Given the description of an element on the screen output the (x, y) to click on. 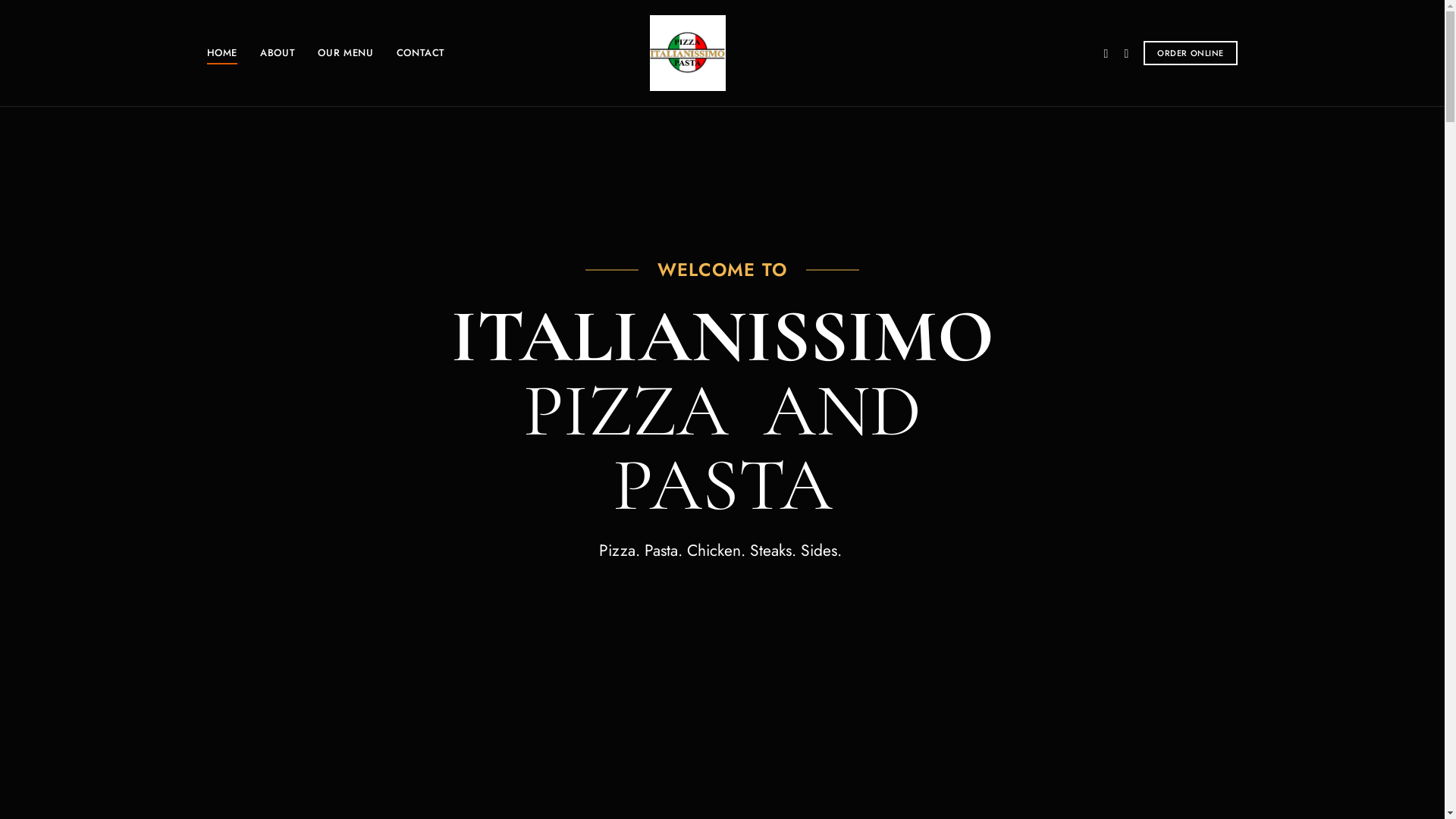
CONTACT Element type: text (421, 52)
ORDER ONLINE Element type: text (1190, 52)
Instagram Element type: text (1125, 53)
HOME Element type: text (222, 52)
Facebook Element type: text (1106, 53)
OUR MENU Element type: text (345, 52)
ABOUT Element type: text (277, 52)
